Given the description of an element on the screen output the (x, y) to click on. 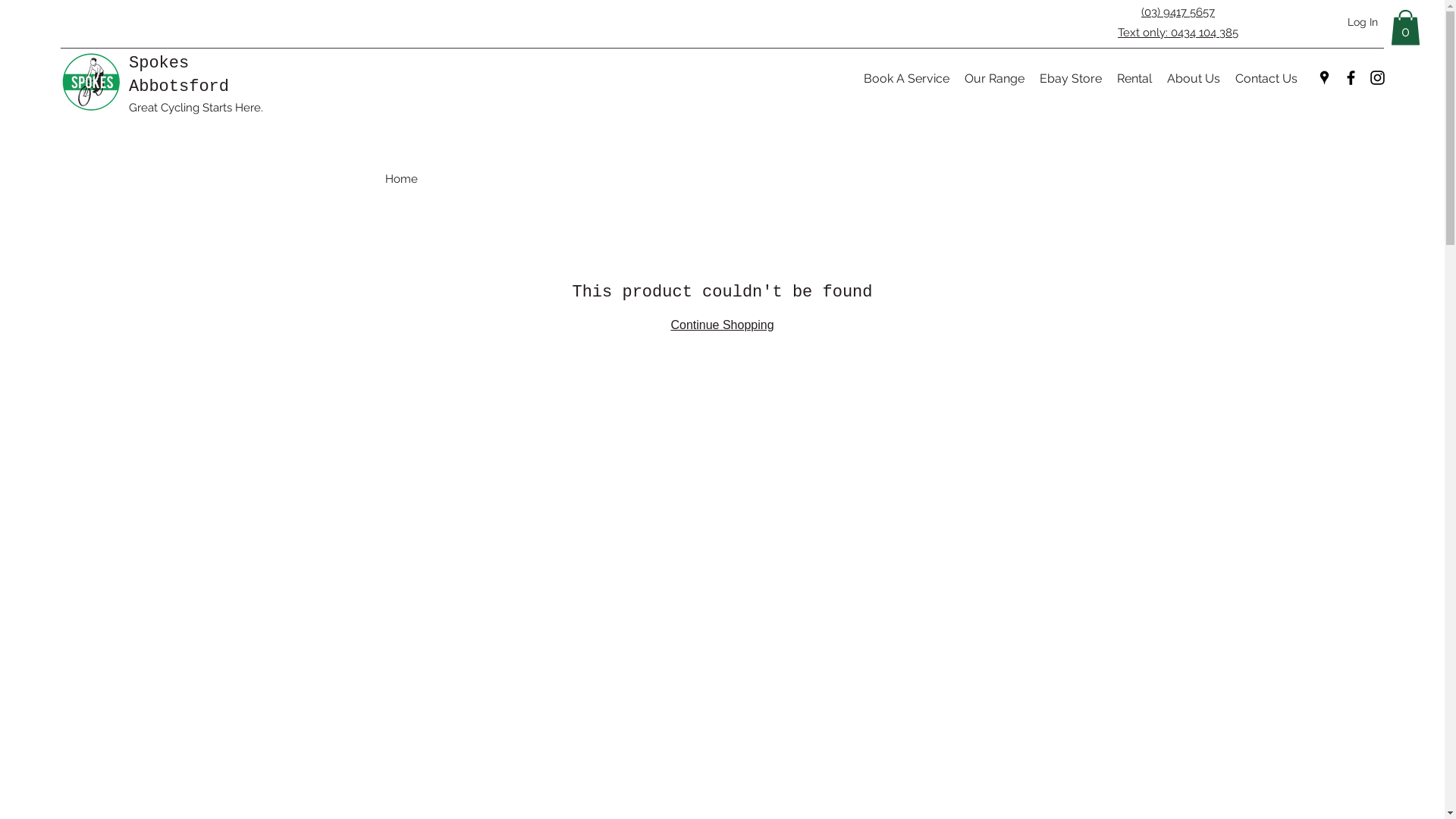
About Us Element type: text (1193, 78)
0 Element type: text (1405, 27)
Continue Shopping Element type: text (721, 324)
Our Range Element type: text (994, 78)
Rental Element type: text (1134, 78)
Ebay Store Element type: text (1070, 78)
Home Element type: text (401, 178)
Log In Element type: text (1362, 22)
Contact Us Element type: text (1266, 78)
(03) 9417 5657 Element type: text (1177, 11)
Book A Service Element type: text (906, 78)
